Given the description of an element on the screen output the (x, y) to click on. 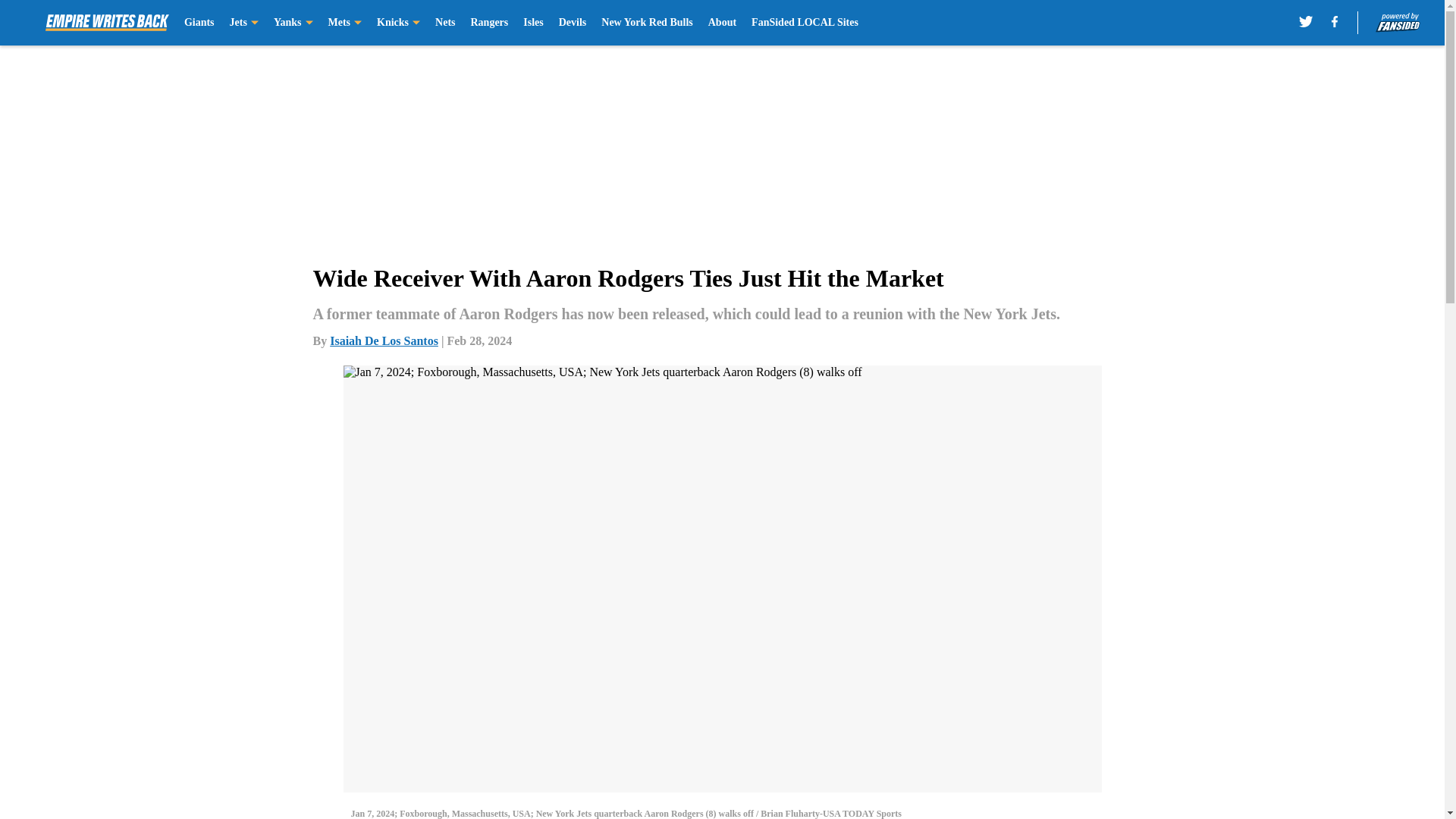
Nets (444, 22)
FanSided LOCAL Sites (805, 22)
About (721, 22)
Rangers (489, 22)
Giants (199, 22)
Isaiah De Los Santos (384, 340)
Isles (532, 22)
Devils (572, 22)
New York Red Bulls (647, 22)
